Given the description of an element on the screen output the (x, y) to click on. 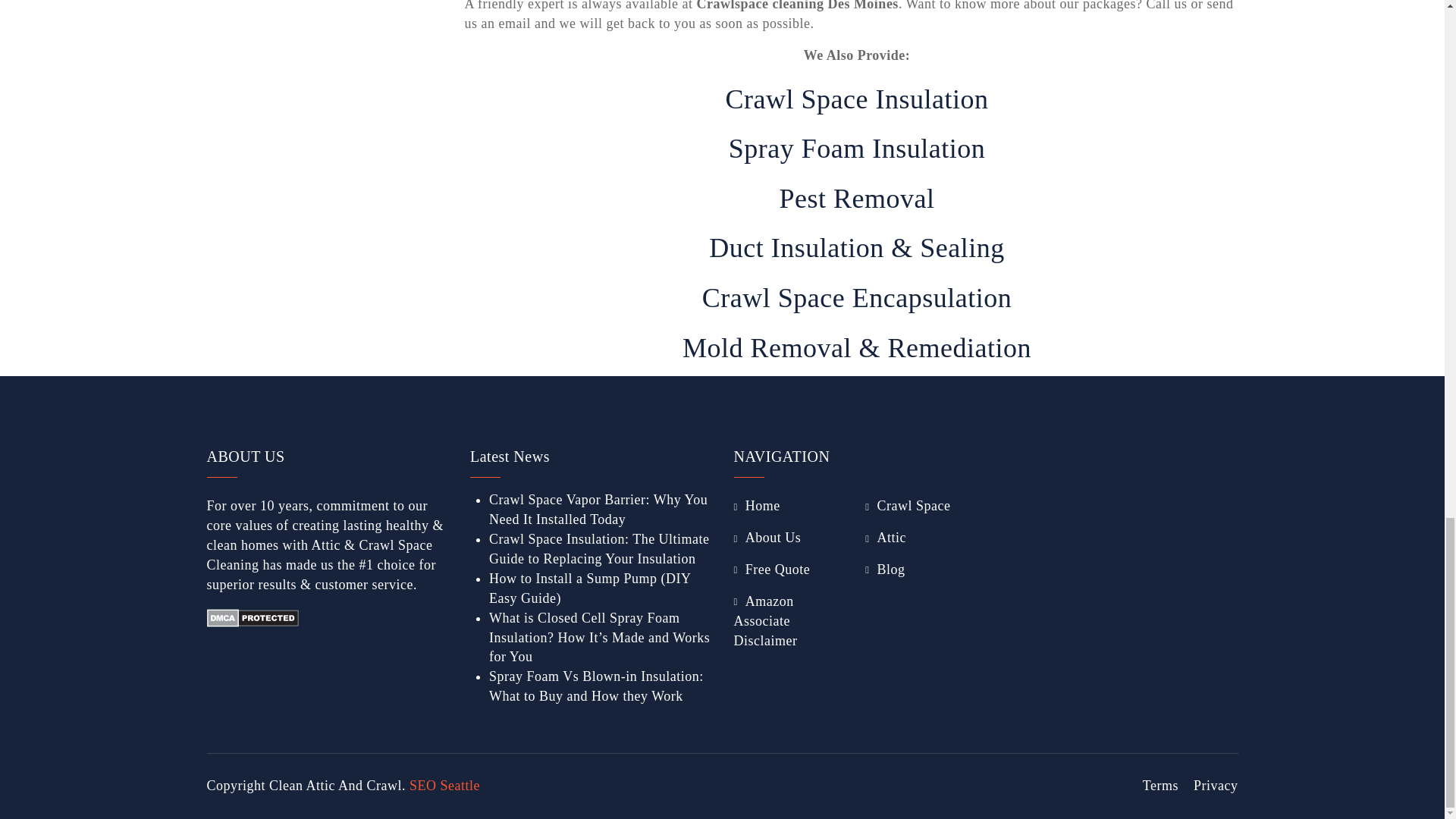
DMCA.com Protection Status (252, 616)
